Given the description of an element on the screen output the (x, y) to click on. 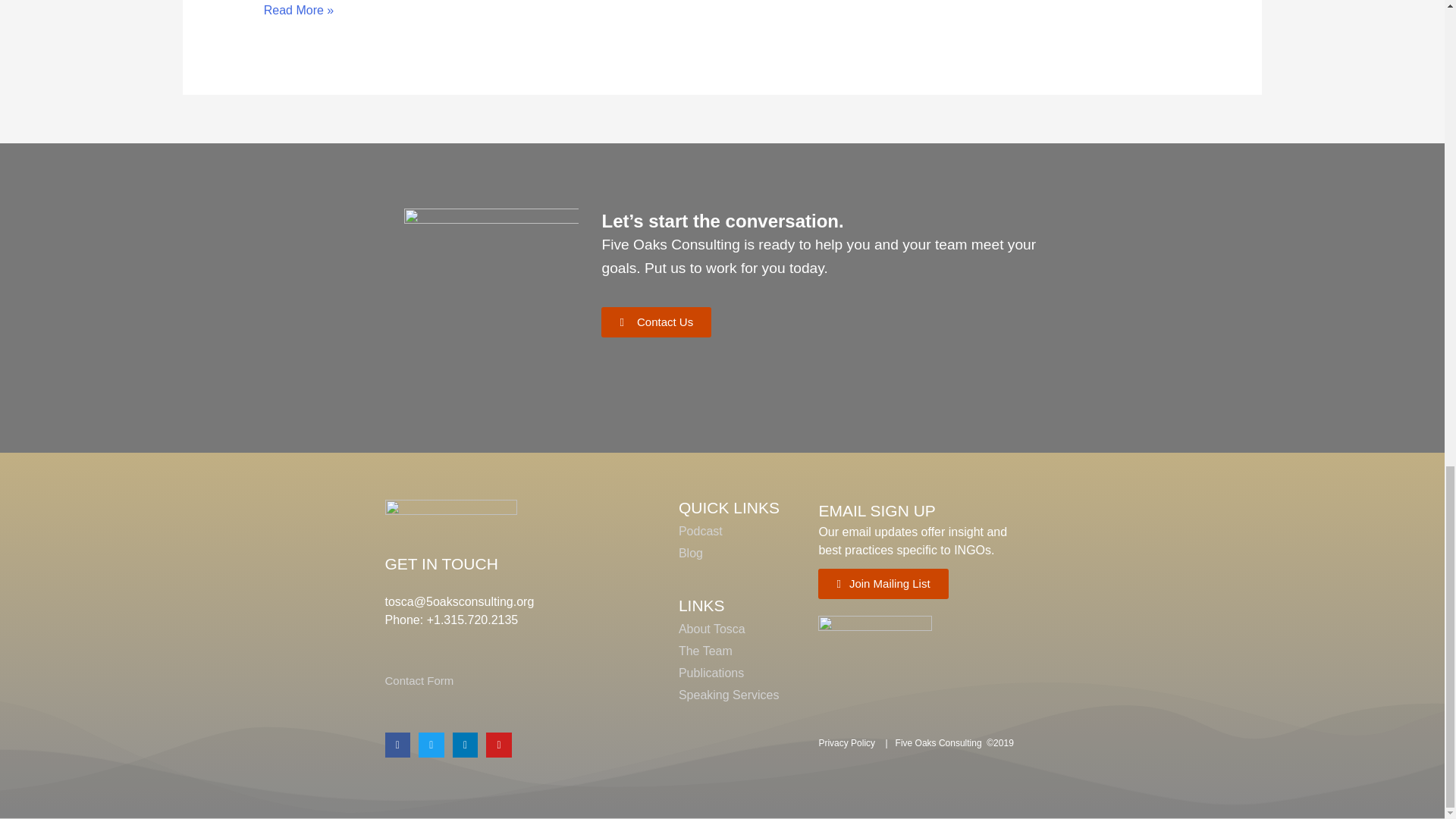
Twitter (431, 745)
Facebook-f (397, 745)
Contact Form (419, 680)
Contact Us (656, 322)
Publications (711, 672)
Linkedin-in (465, 745)
Podcast (700, 530)
Blog (690, 553)
About Tosca (711, 628)
Youtube (499, 745)
